Given the description of an element on the screen output the (x, y) to click on. 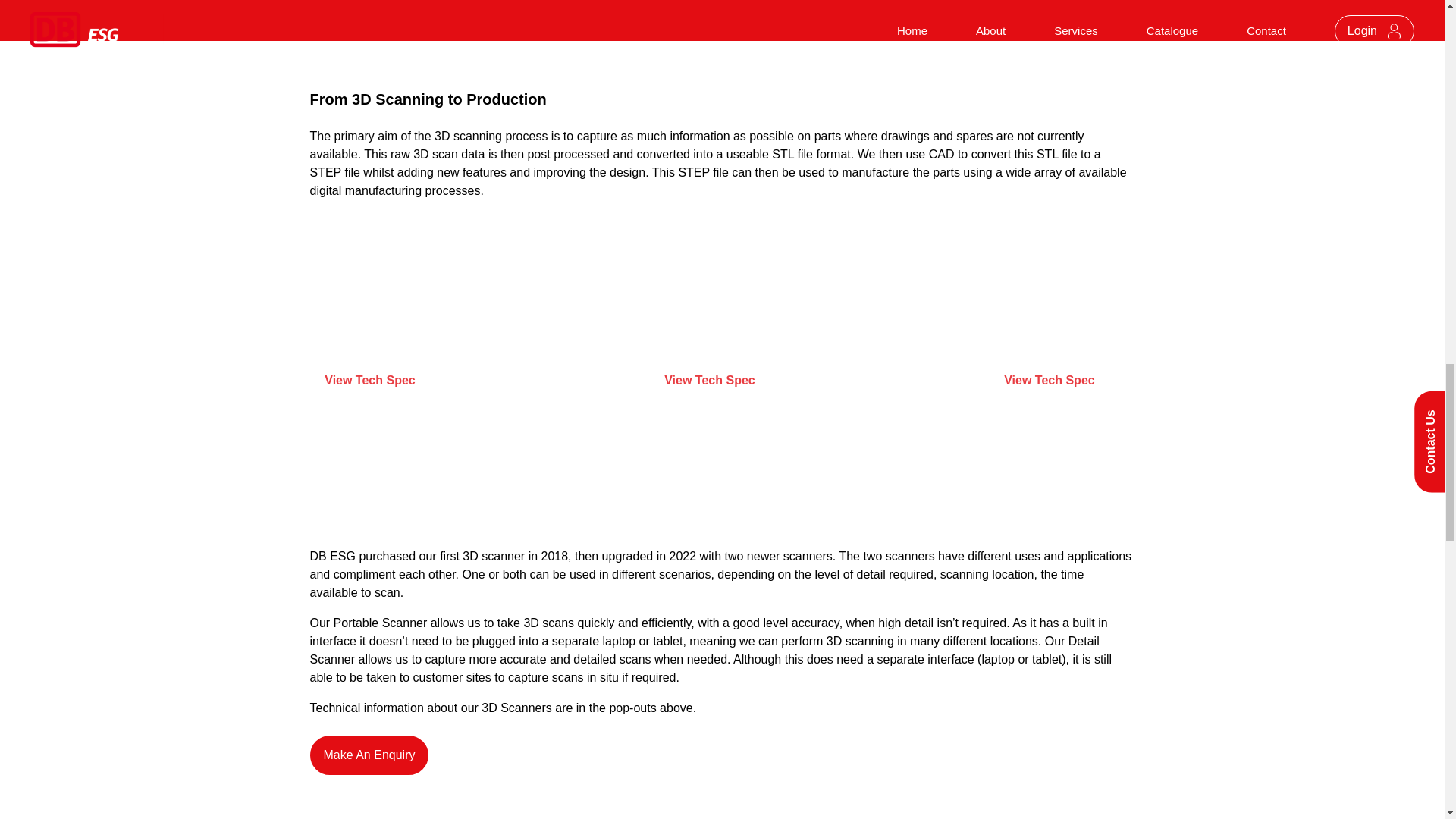
View Tech Spec (382, 380)
